Given the description of an element on the screen output the (x, y) to click on. 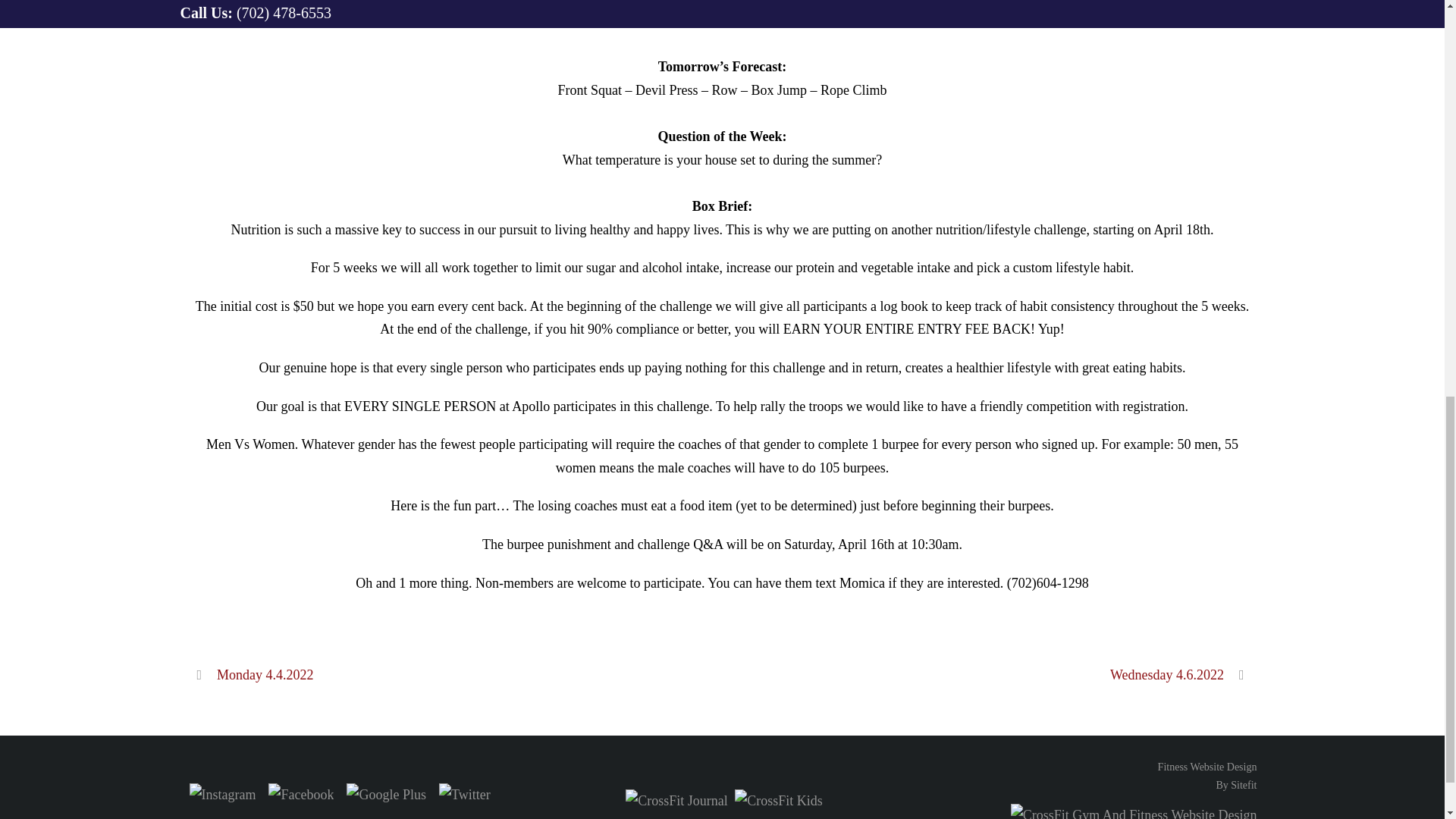
Wednesday 4.6.2022 (1207, 776)
Gym And Fitness Website Design (1183, 674)
Monday 4.4.2022 (1207, 776)
